Given the description of an element on the screen output the (x, y) to click on. 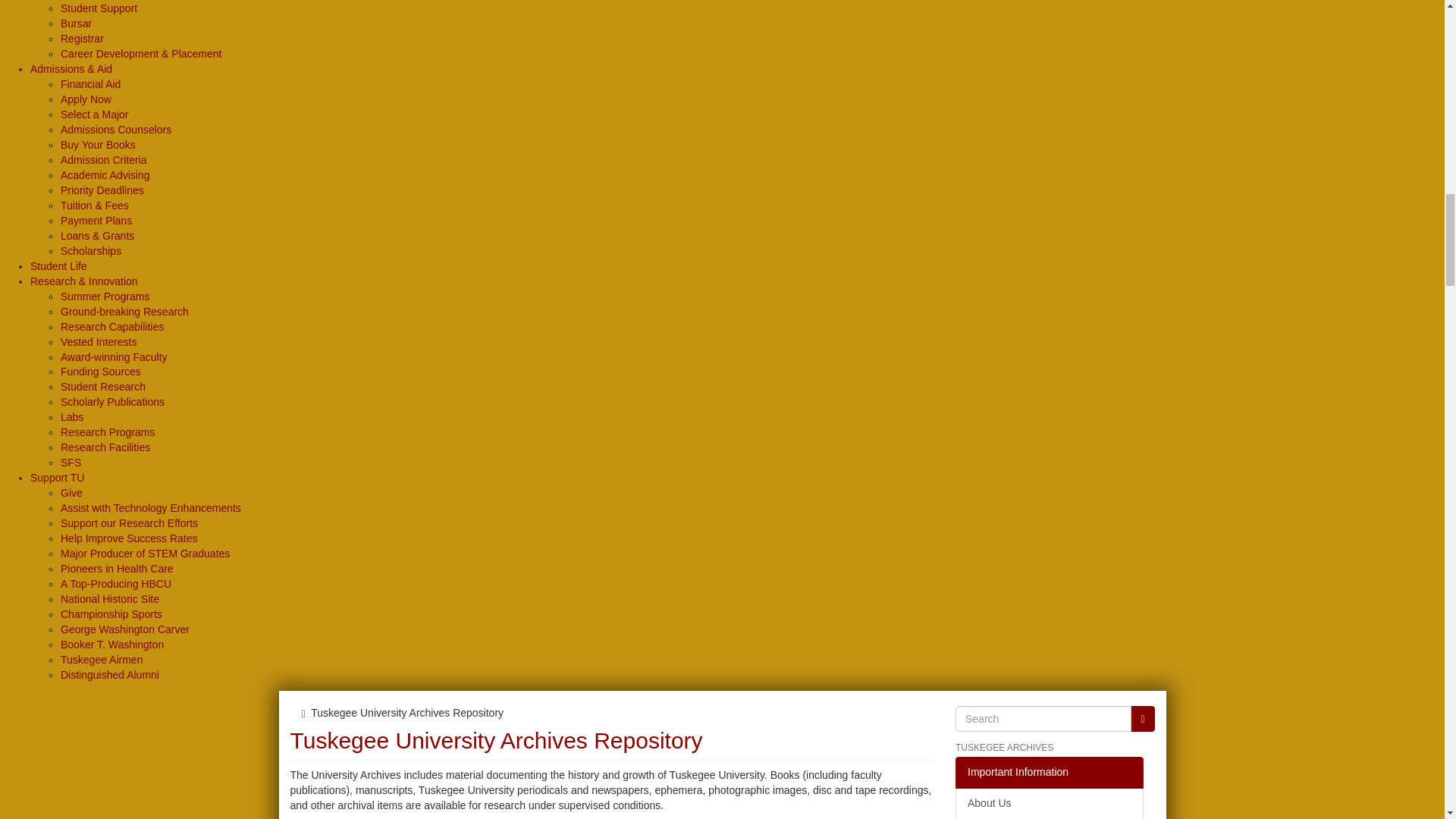
Go (1142, 718)
